Given the description of an element on the screen output the (x, y) to click on. 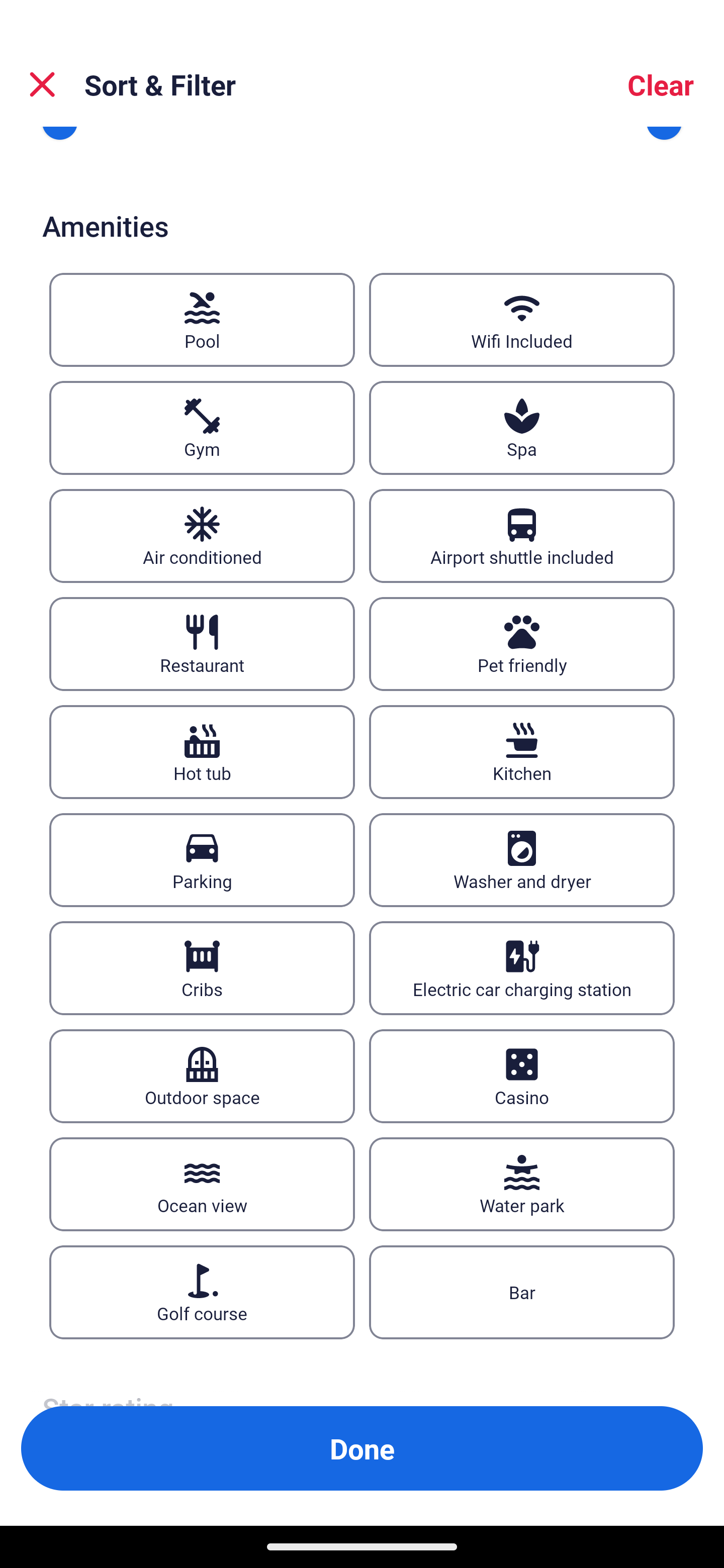
Close Sort and Filter (42, 84)
Clear (660, 84)
Pool (201, 319)
Wifi Included (521, 319)
Gym (201, 428)
Spa (521, 428)
Air conditioned (201, 536)
Airport shuttle included (521, 536)
Restaurant (201, 644)
Pet friendly (521, 644)
Hot tub (201, 752)
Kitchen (521, 752)
Parking (201, 860)
Washer and dryer (521, 860)
Cribs (201, 967)
Electric car charging station (521, 967)
Outdoor space (201, 1075)
Casino (521, 1075)
Ocean view (201, 1183)
Water park (521, 1183)
Golf course (201, 1291)
Bar (521, 1291)
Apply and close Sort and Filter Done (361, 1448)
